Given the description of an element on the screen output the (x, y) to click on. 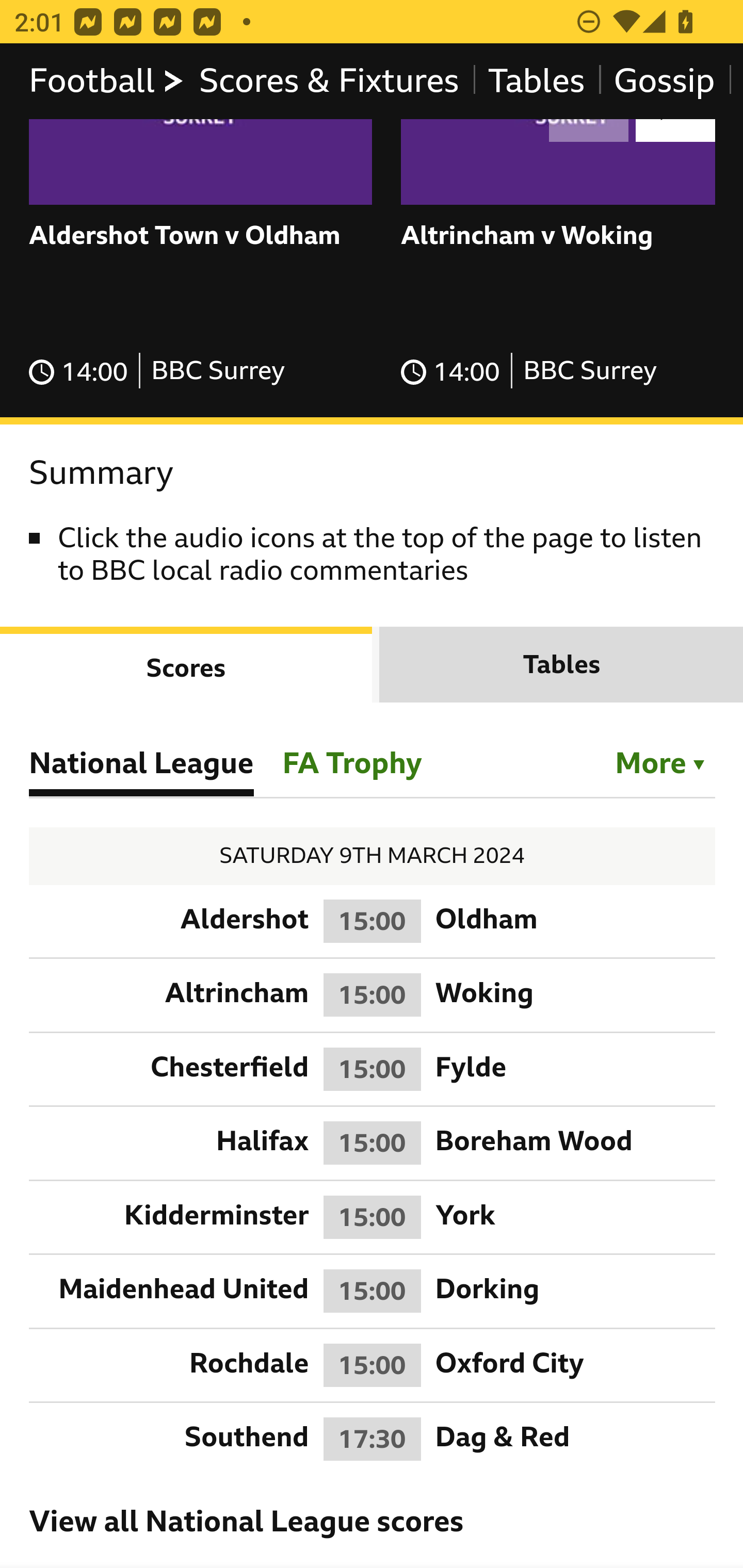
Scores (186, 664)
Tables (560, 664)
